Given the description of an element on the screen output the (x, y) to click on. 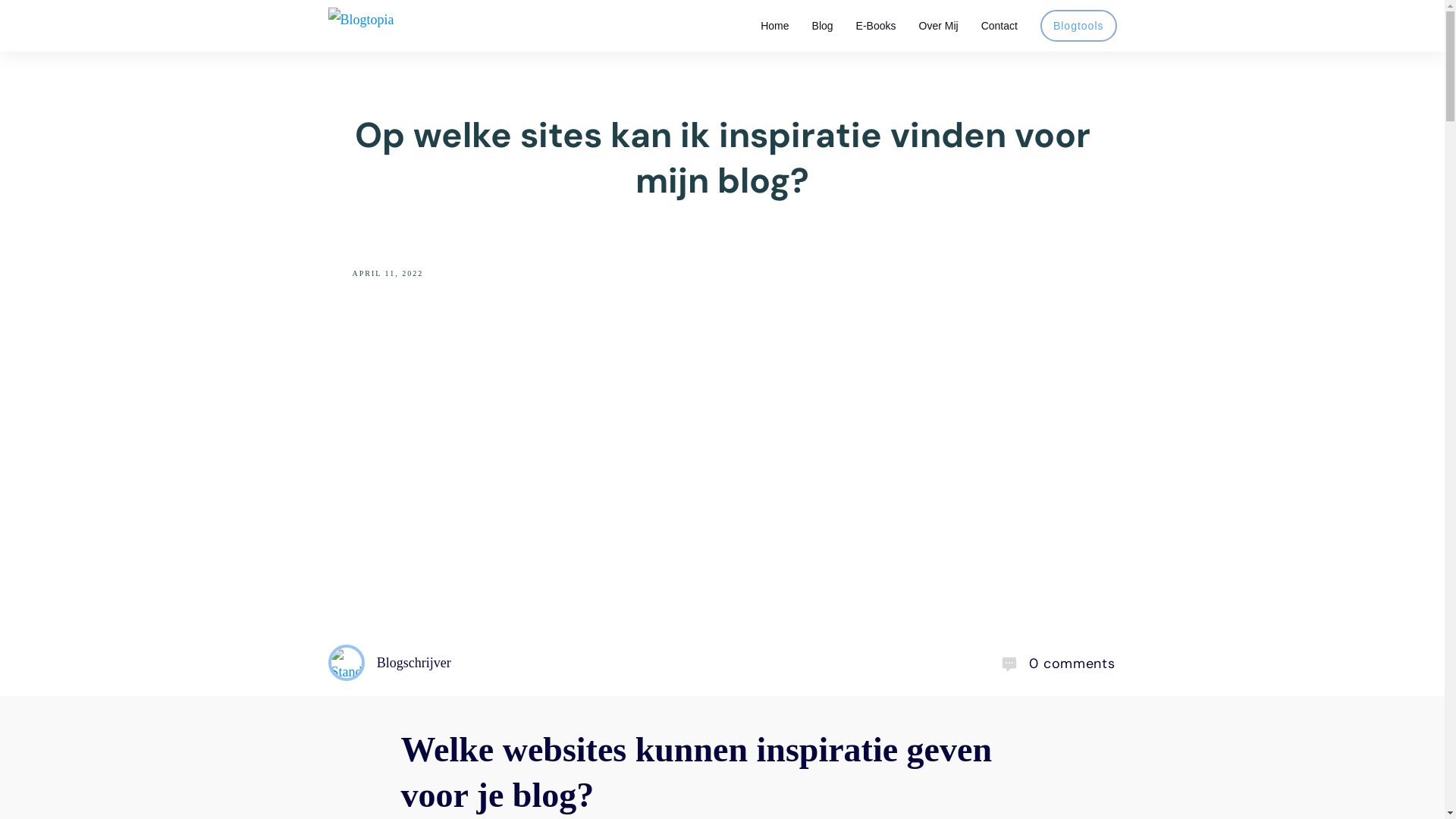
Home Element type: text (774, 25)
Blogtools Element type: text (1078, 25)
Standard Post Element type: hover (345, 662)
Contact Element type: text (999, 25)
Over Mij Element type: text (938, 25)
Blog Element type: text (822, 25)
Op welke sites kan ik inspiratie vinden voor mijn blog? Element type: text (722, 157)
E-Books Element type: text (876, 25)
